Given the description of an element on the screen output the (x, y) to click on. 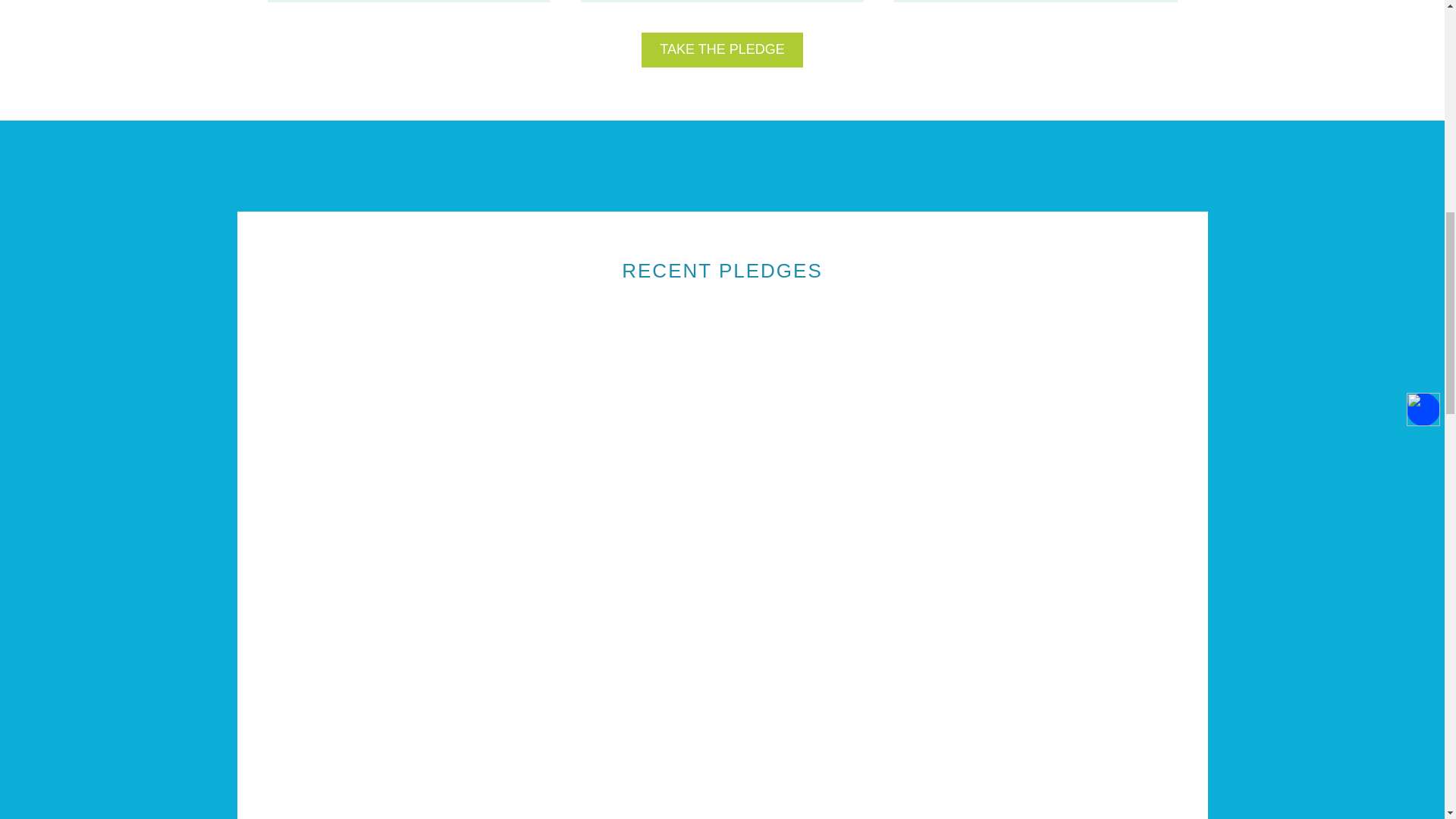
TAKE THE PLEDGE (722, 49)
